Given the description of an element on the screen output the (x, y) to click on. 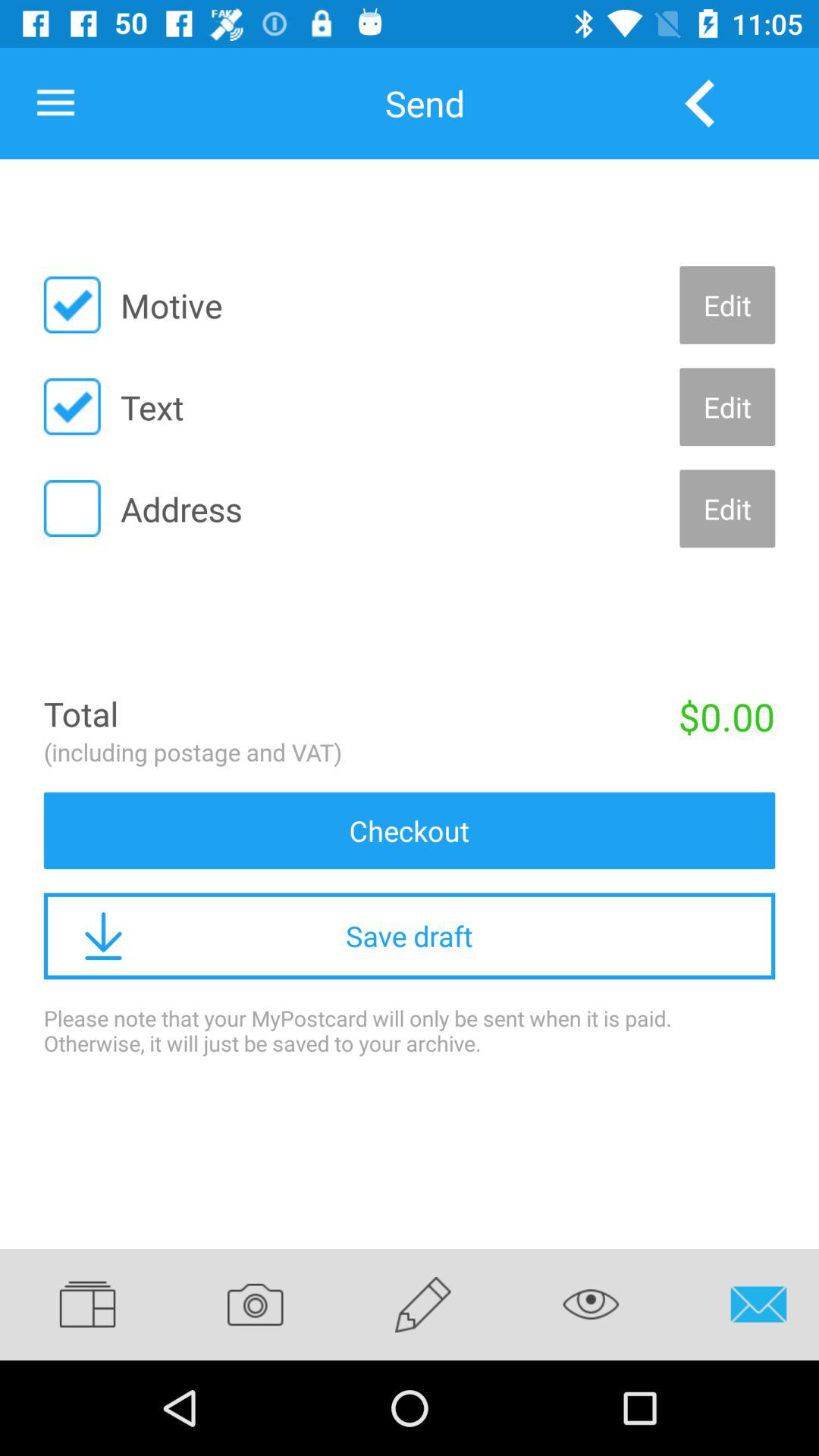
click icon below the please note that item (255, 1304)
